Given the description of an element on the screen output the (x, y) to click on. 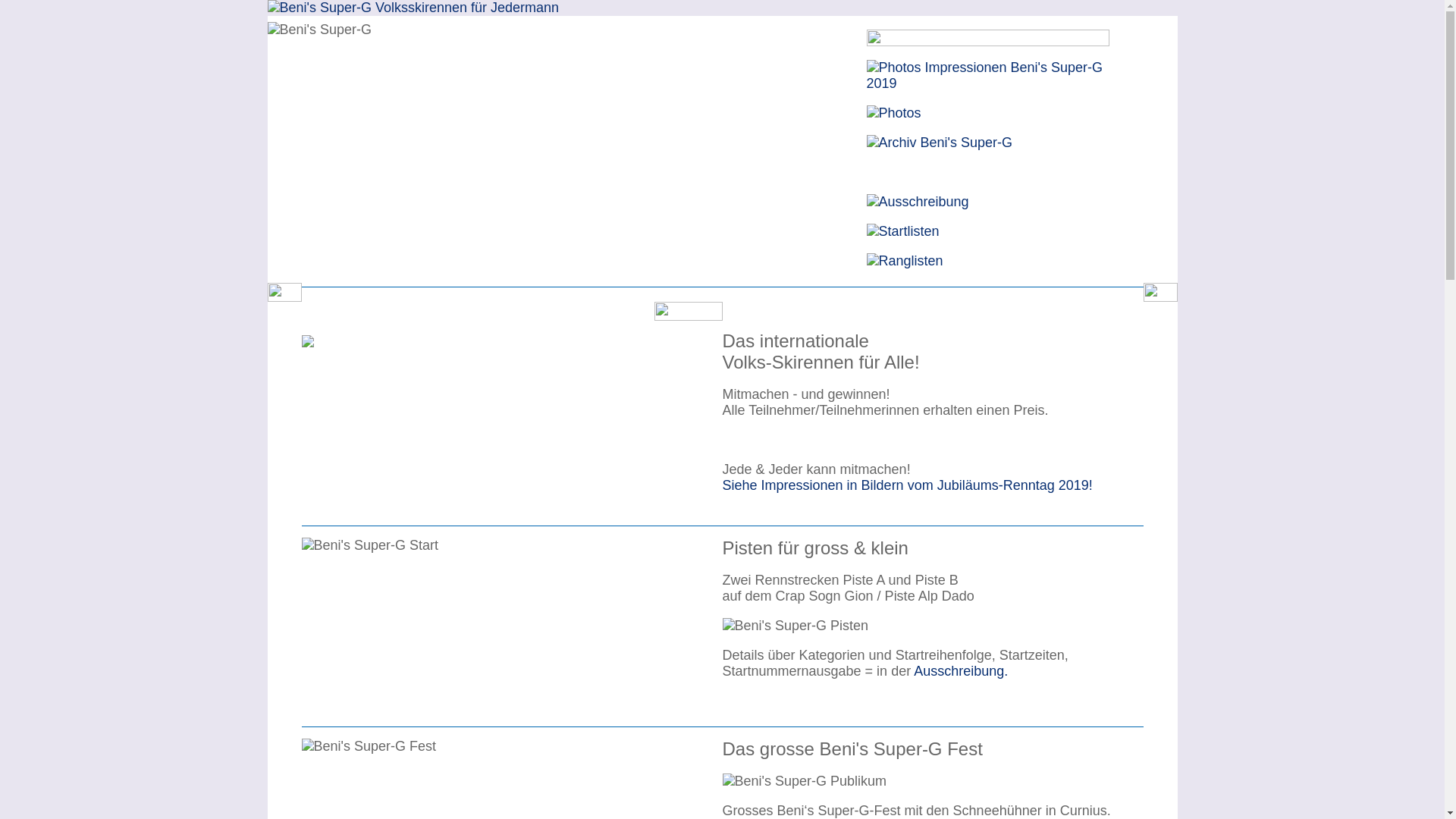
1 Element type: text (450, 336)
Ausschreibung. Element type: text (960, 670)
2 Element type: text (461, 336)
7 Element type: text (514, 336)
4 Element type: text (482, 336)
5 Element type: text (492, 336)
teilnehmer_04907 Element type: hover (307, 341)
8 Element type: text (524, 336)
3 Element type: text (471, 336)
6 Element type: text (503, 336)
